Given the description of an element on the screen output the (x, y) to click on. 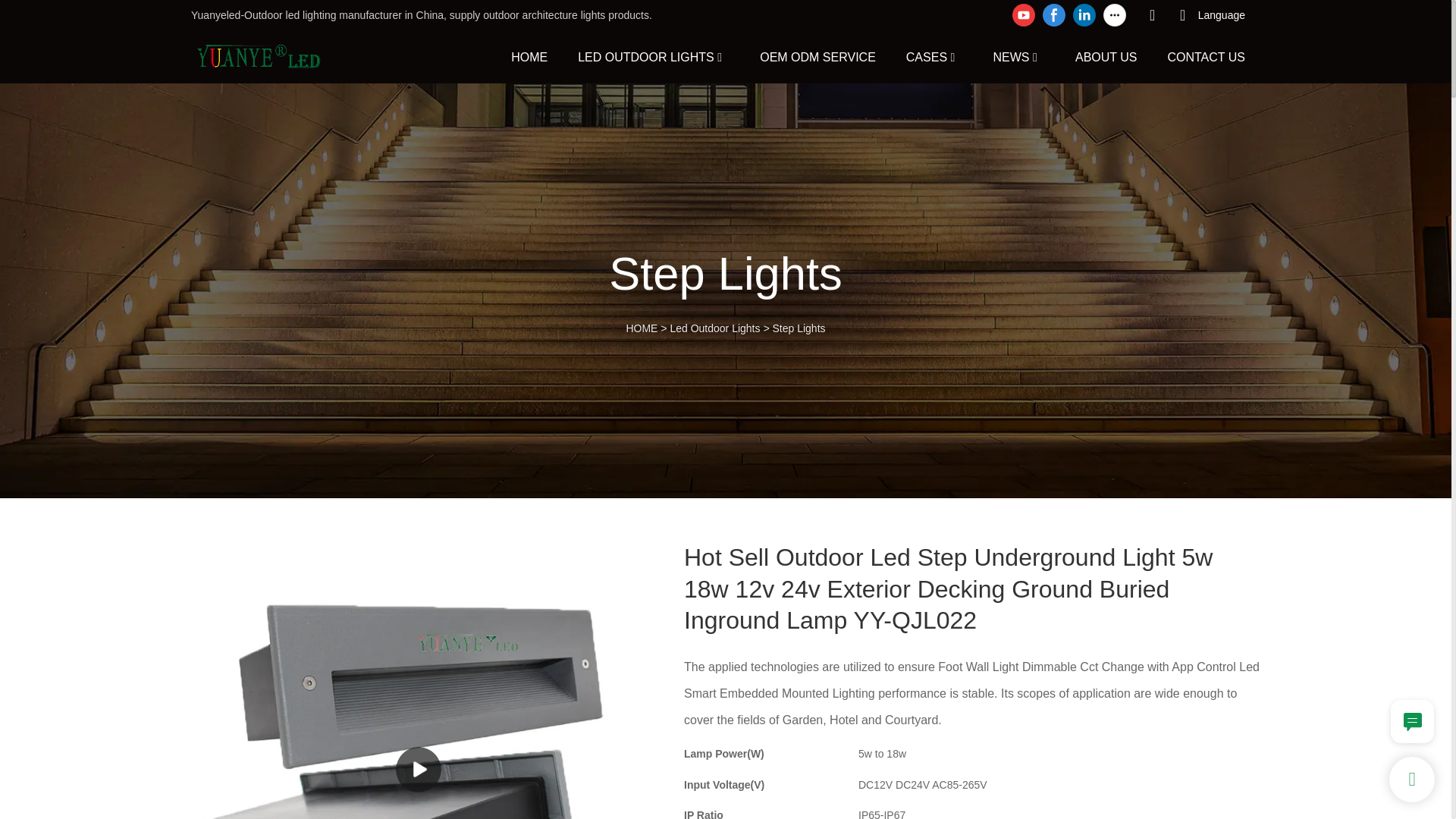
CONTACT US (1205, 56)
HOME (529, 56)
NEWS (1010, 56)
facebook (1053, 15)
CASES (926, 56)
OEM ODM SERVICE (818, 56)
youtube (1024, 15)
LED OUTDOOR LIGHTS (646, 56)
ABOUT US (1106, 56)
linkedin (1083, 15)
